Given the description of an element on the screen output the (x, y) to click on. 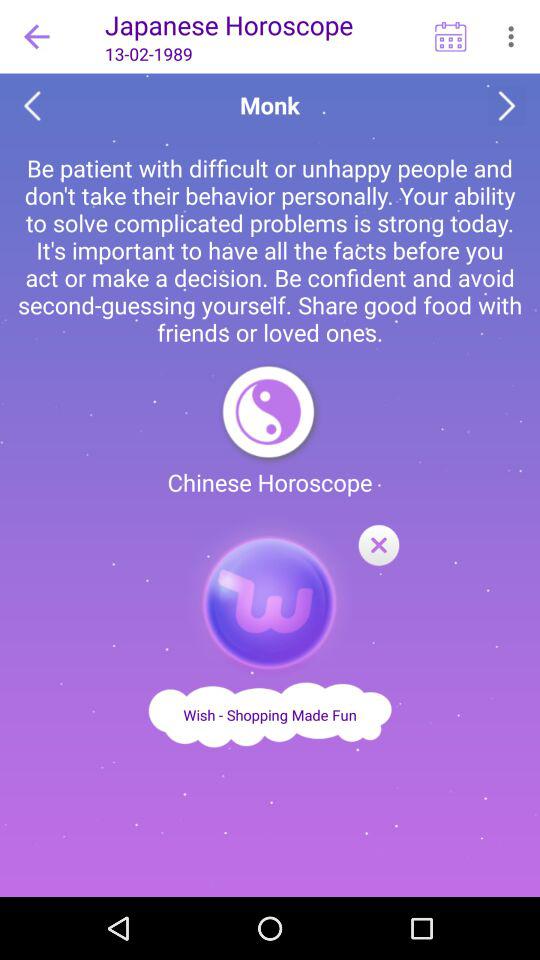
go back (32, 106)
